Given the description of an element on the screen output the (x, y) to click on. 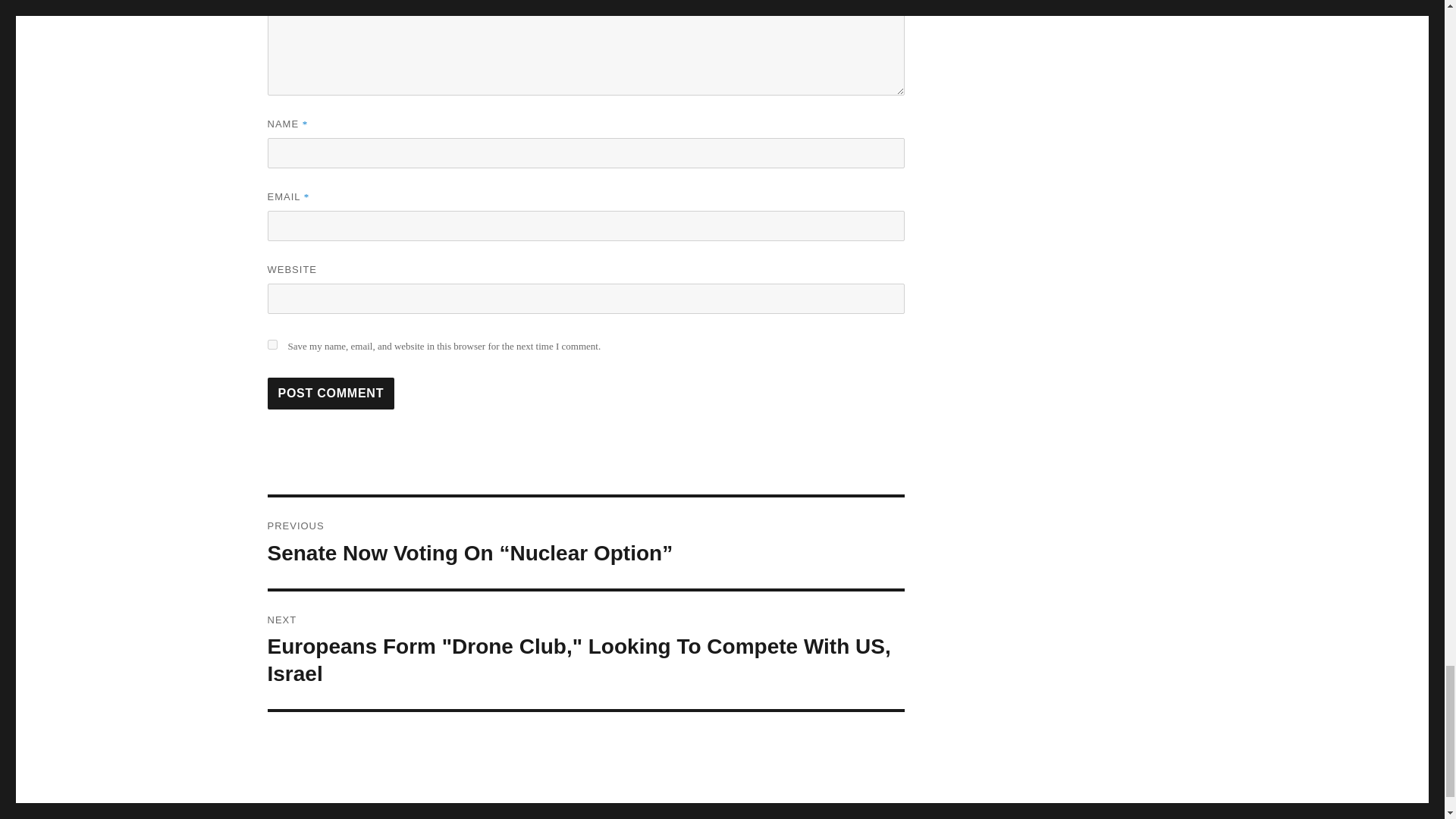
Post Comment (330, 393)
Post Comment (330, 393)
yes (271, 344)
